Given the description of an element on the screen output the (x, y) to click on. 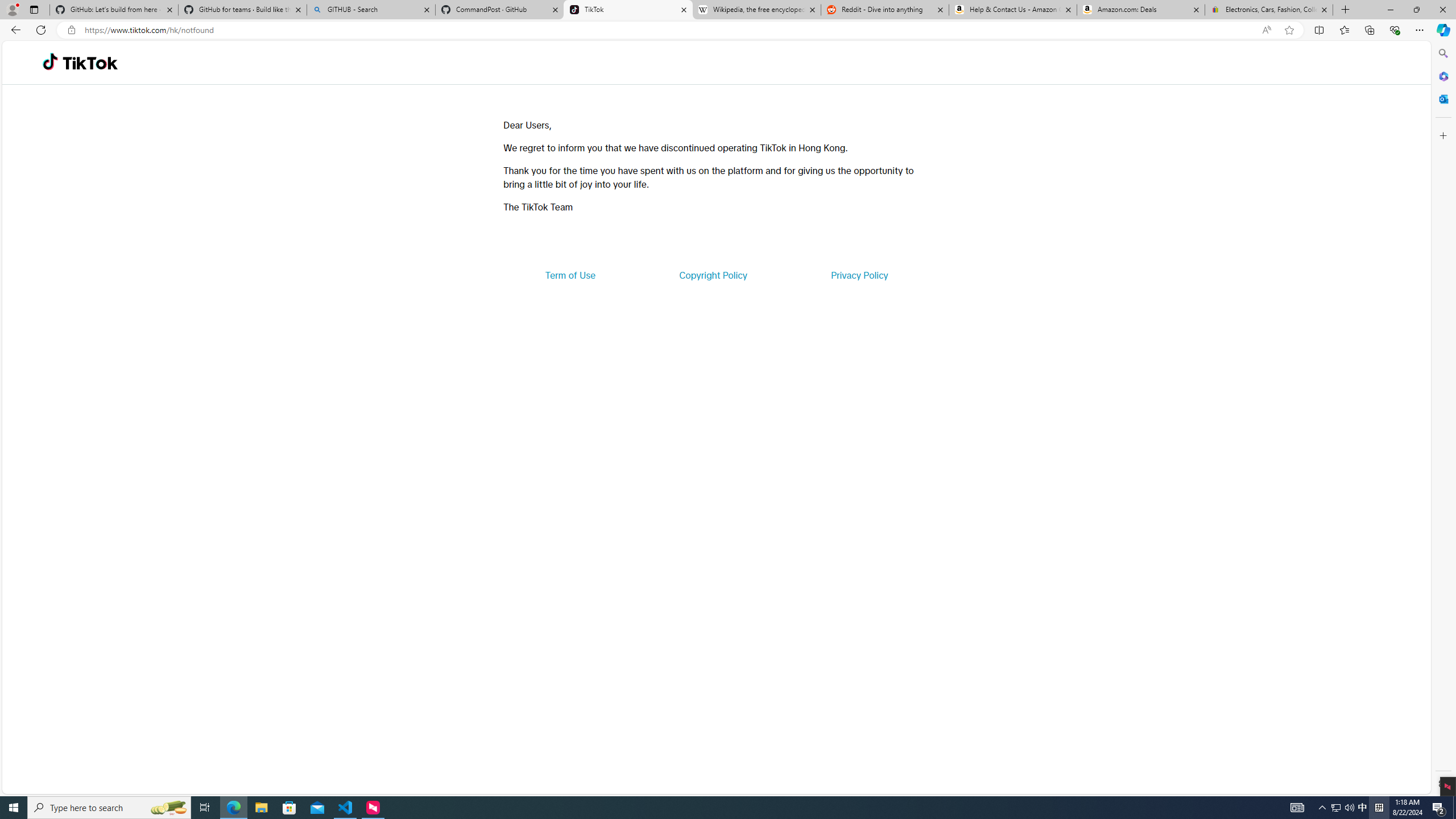
Copyright Policy (712, 274)
Wikipedia, the free encyclopedia (756, 9)
Term of Use (569, 274)
